Given the description of an element on the screen output the (x, y) to click on. 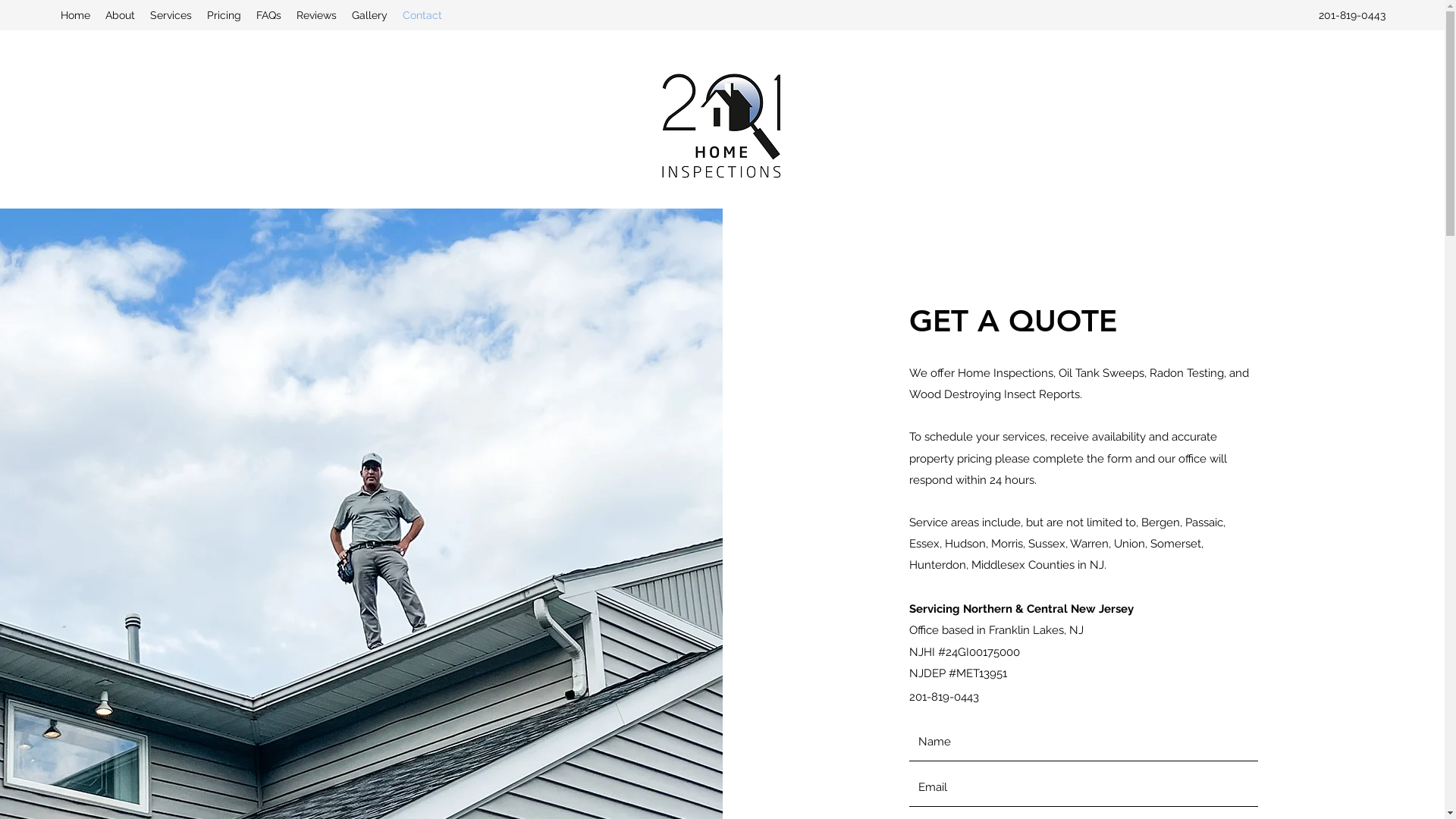
Contact Element type: text (422, 14)
Gallery Element type: text (369, 14)
Reviews Element type: text (316, 14)
Services Element type: text (170, 14)
Home Element type: text (75, 14)
Pricing Element type: text (223, 14)
FAQs Element type: text (268, 14)
About Element type: text (119, 14)
